Given the description of an element on the screen output the (x, y) to click on. 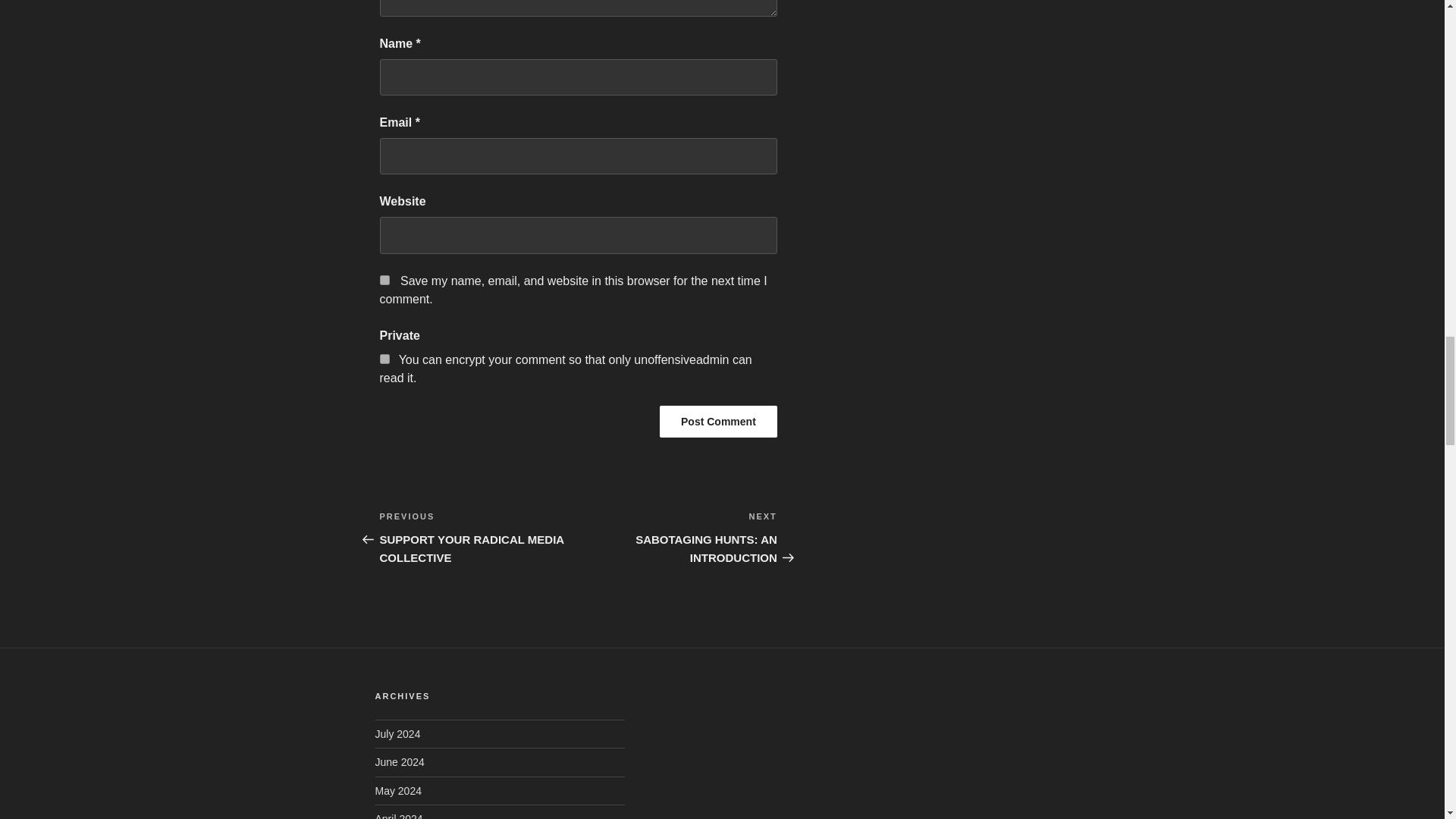
1 (478, 537)
Post Comment (383, 358)
yes (718, 421)
Post Comment (383, 280)
